Given the description of an element on the screen output the (x, y) to click on. 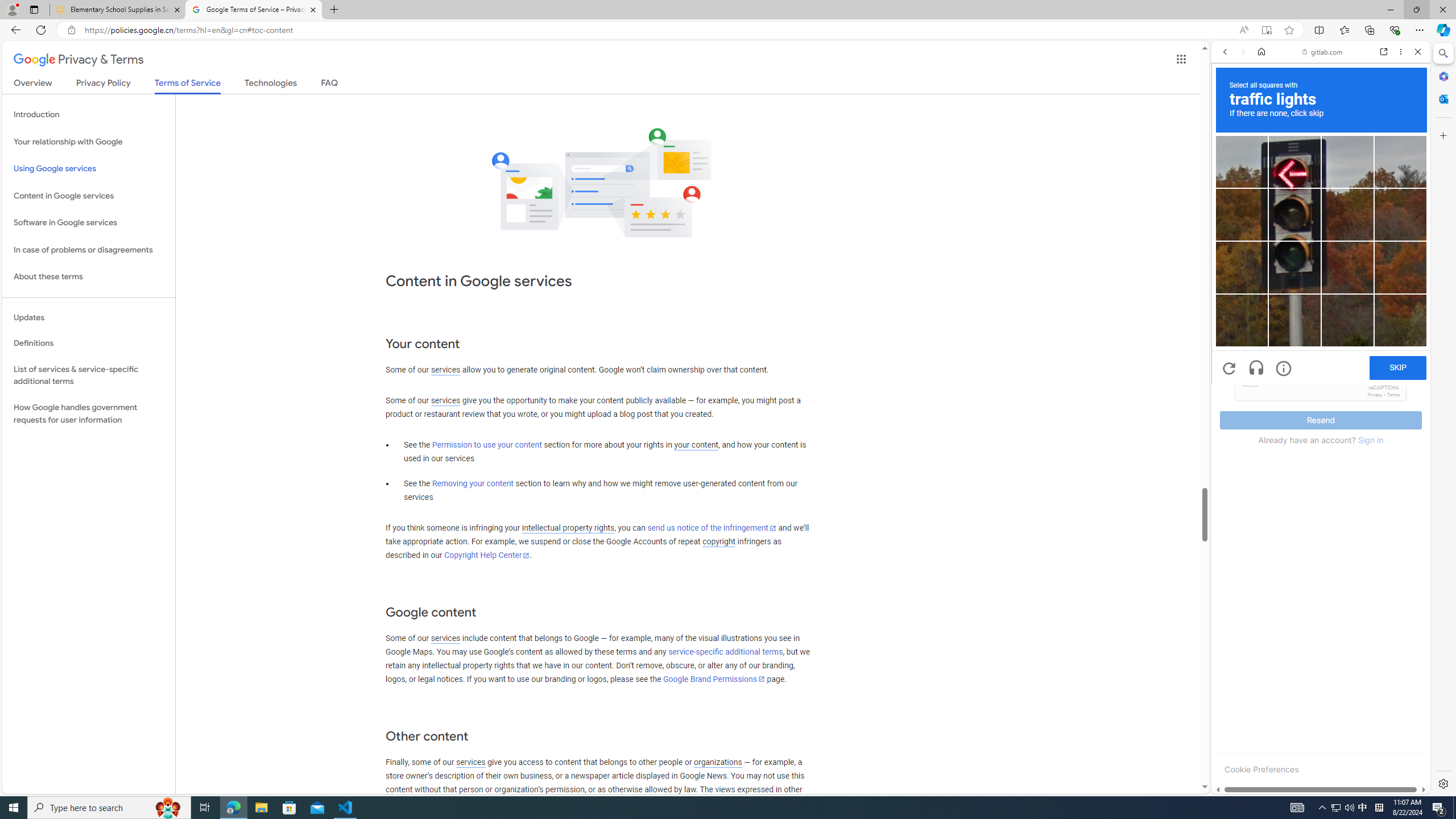
View details (1379, 554)
Close Search pane (1442, 53)
GitLab (1277, 794)
SKIP (1398, 368)
